Given the description of an element on the screen output the (x, y) to click on. 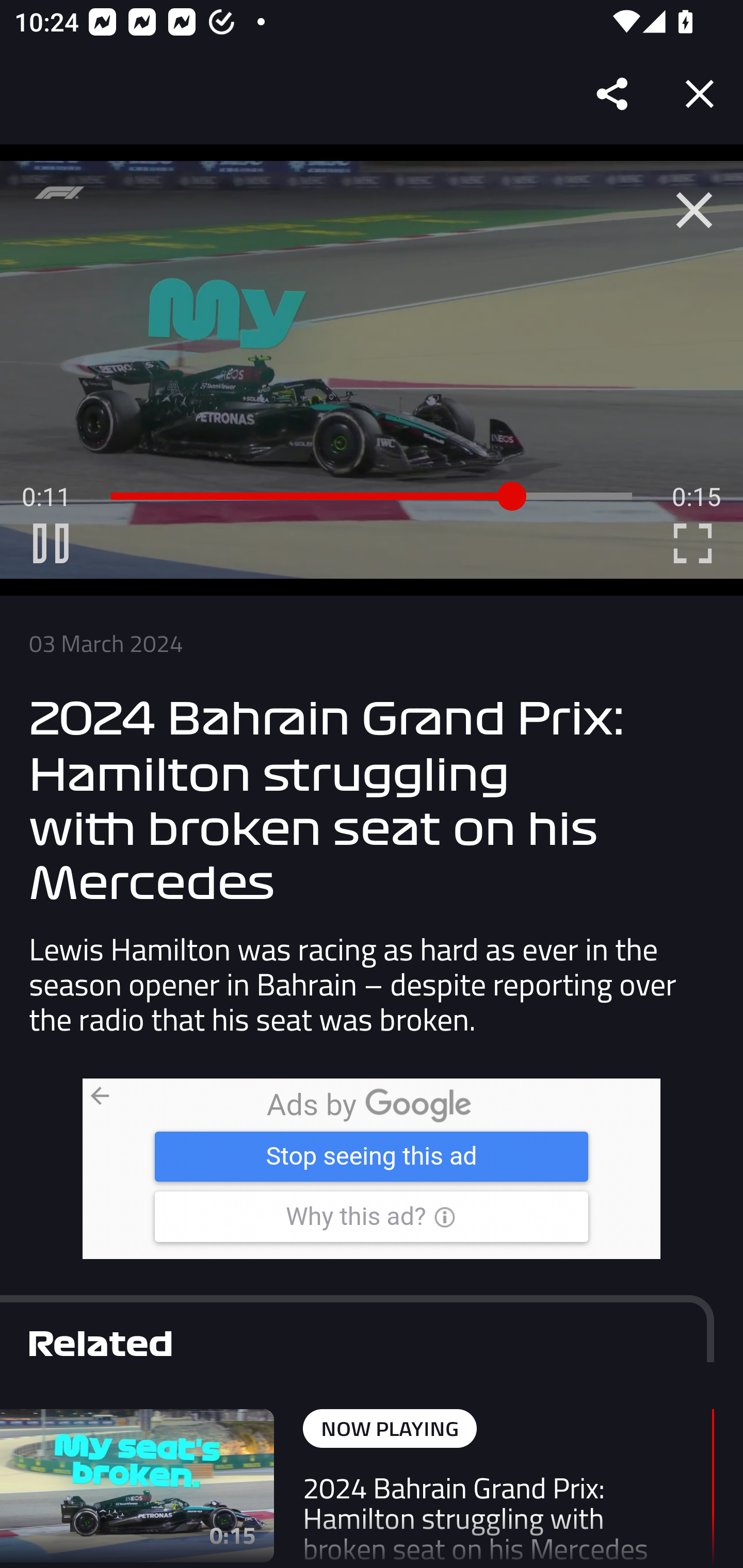
Share (612, 93)
Close (699, 93)
 Close (693, 210)
B Pause (50, 543)
C Enter Fullscreen (692, 543)
